Given the description of an element on the screen output the (x, y) to click on. 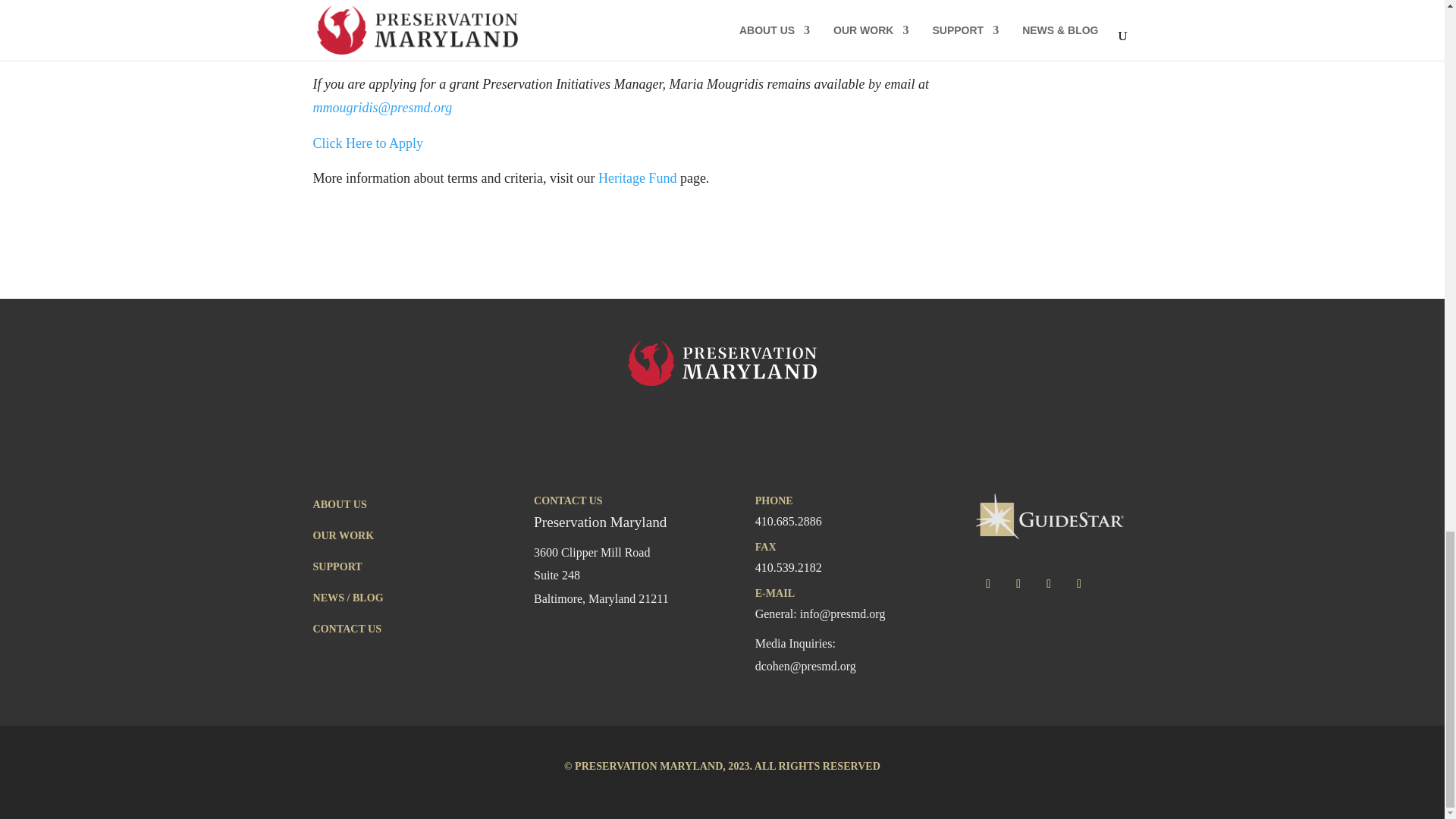
Follow on LinkedIn (1078, 583)
Follow on Twitter (1018, 583)
Follow on Instagram (1048, 583)
Follow on Facebook (987, 583)
